Given the description of an element on the screen output the (x, y) to click on. 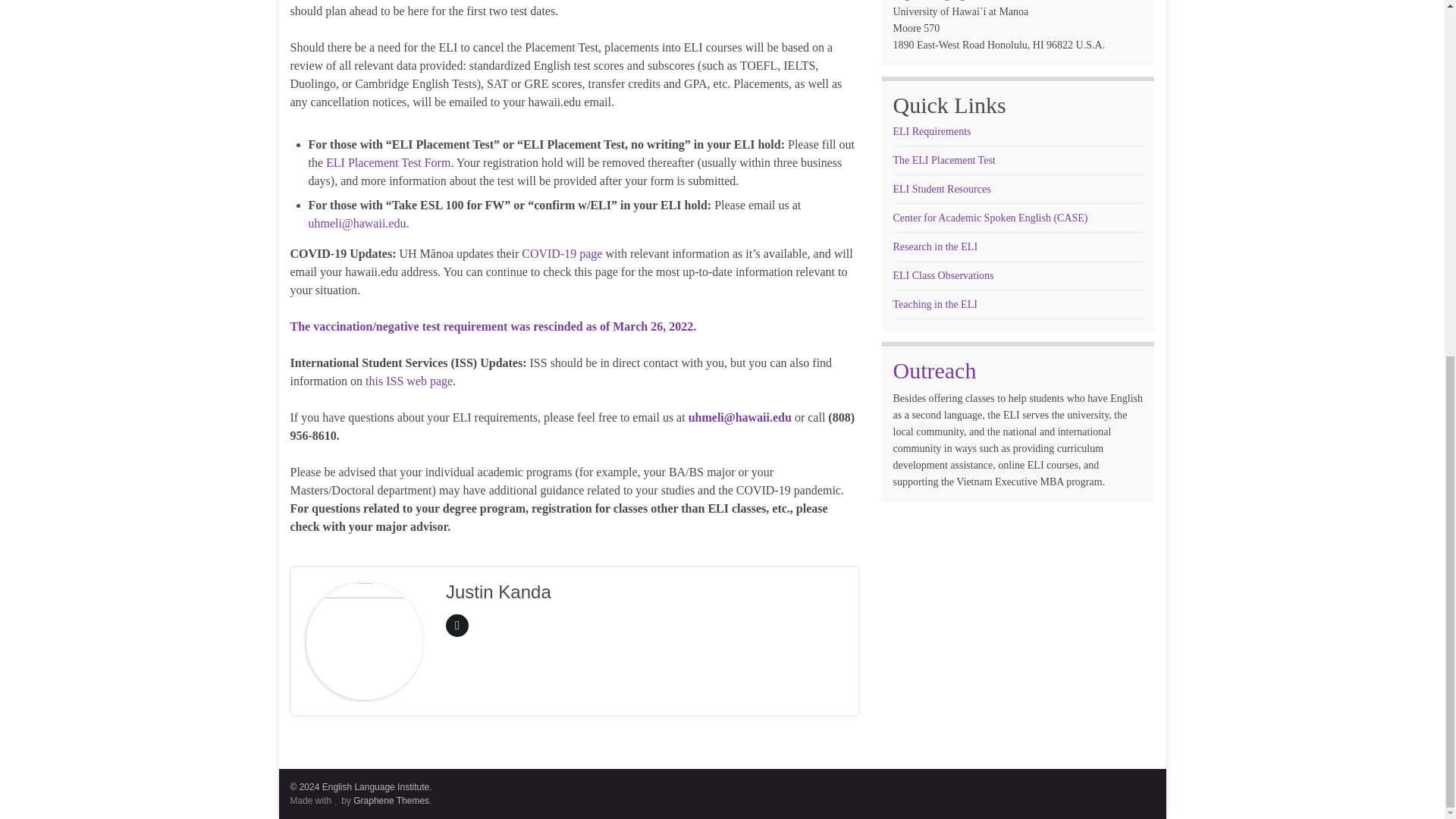
ELI Placement Test Form (387, 162)
